Given the description of an element on the screen output the (x, y) to click on. 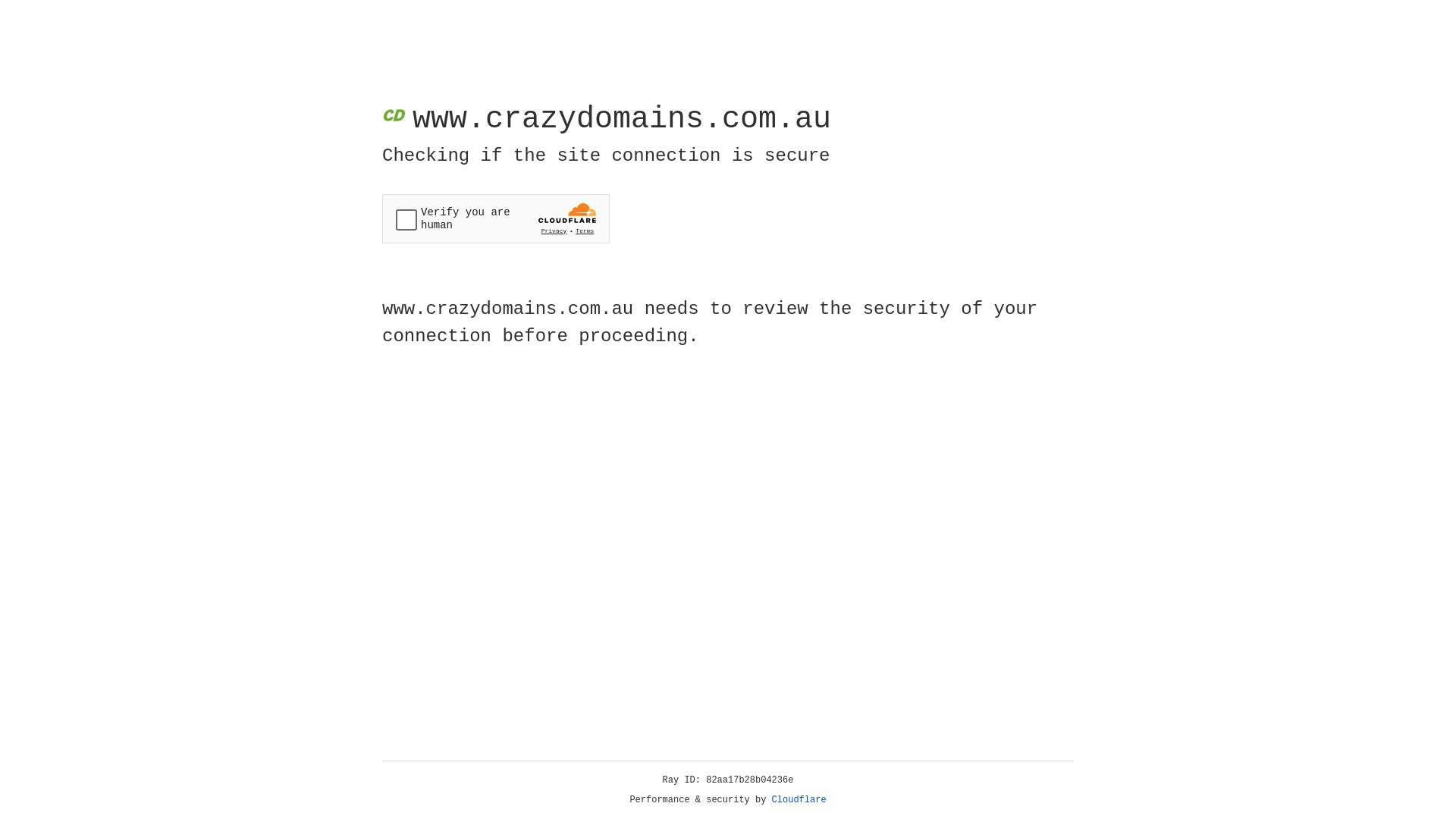
Widget containing a Cloudflare security challenge Element type: hover (495, 218)
Cloudflare Element type: text (798, 799)
